Given the description of an element on the screen output the (x, y) to click on. 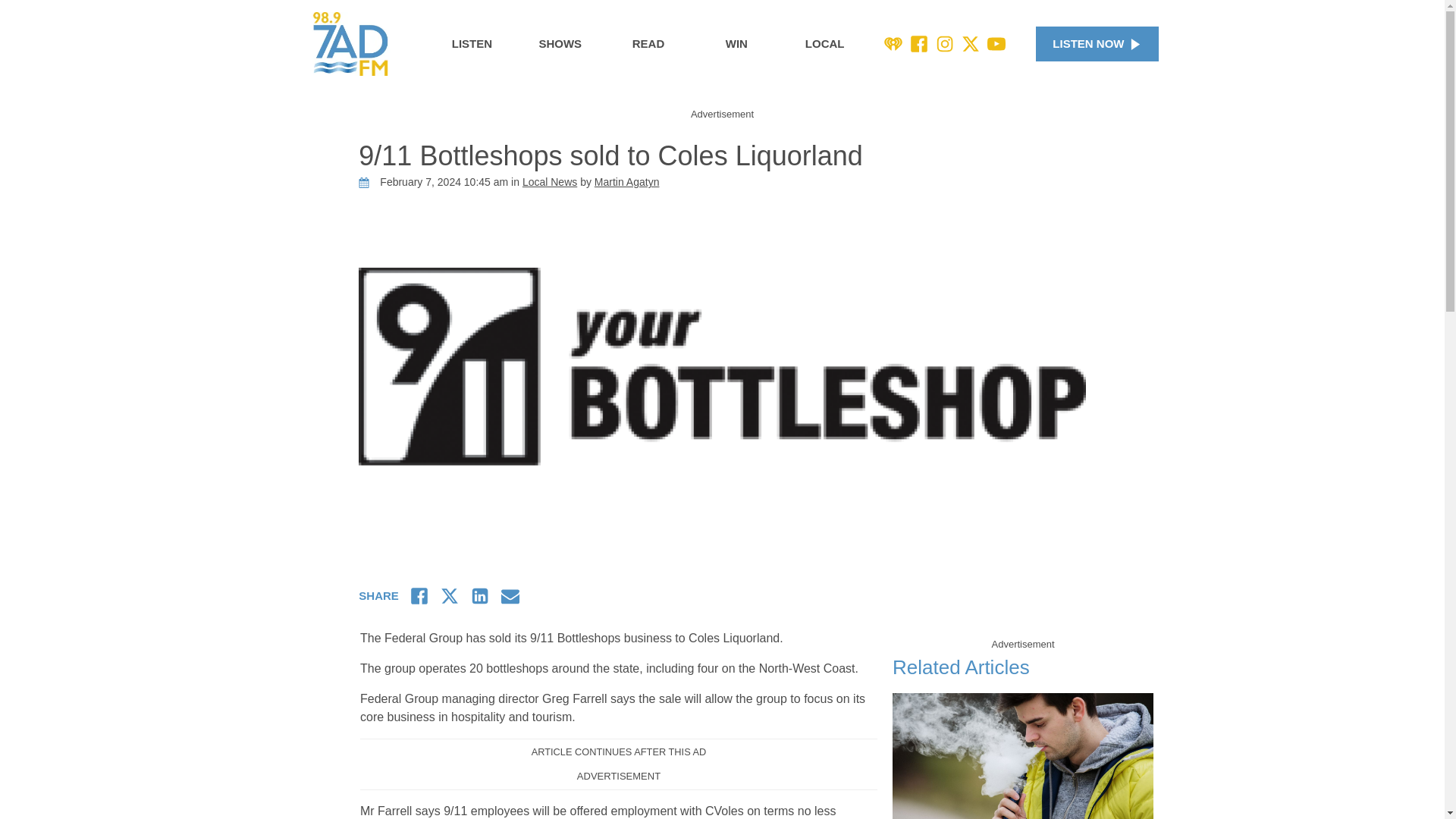
iHeart (892, 44)
Instagram (944, 44)
LOCAL (824, 43)
WIN (736, 43)
LISTEN (471, 43)
LISTEN NOW (1096, 44)
SHOWS (560, 43)
Facebook (919, 44)
Posts by Martin Agatyn (626, 182)
READ (648, 43)
YouTube (996, 44)
